Given the description of an element on the screen output the (x, y) to click on. 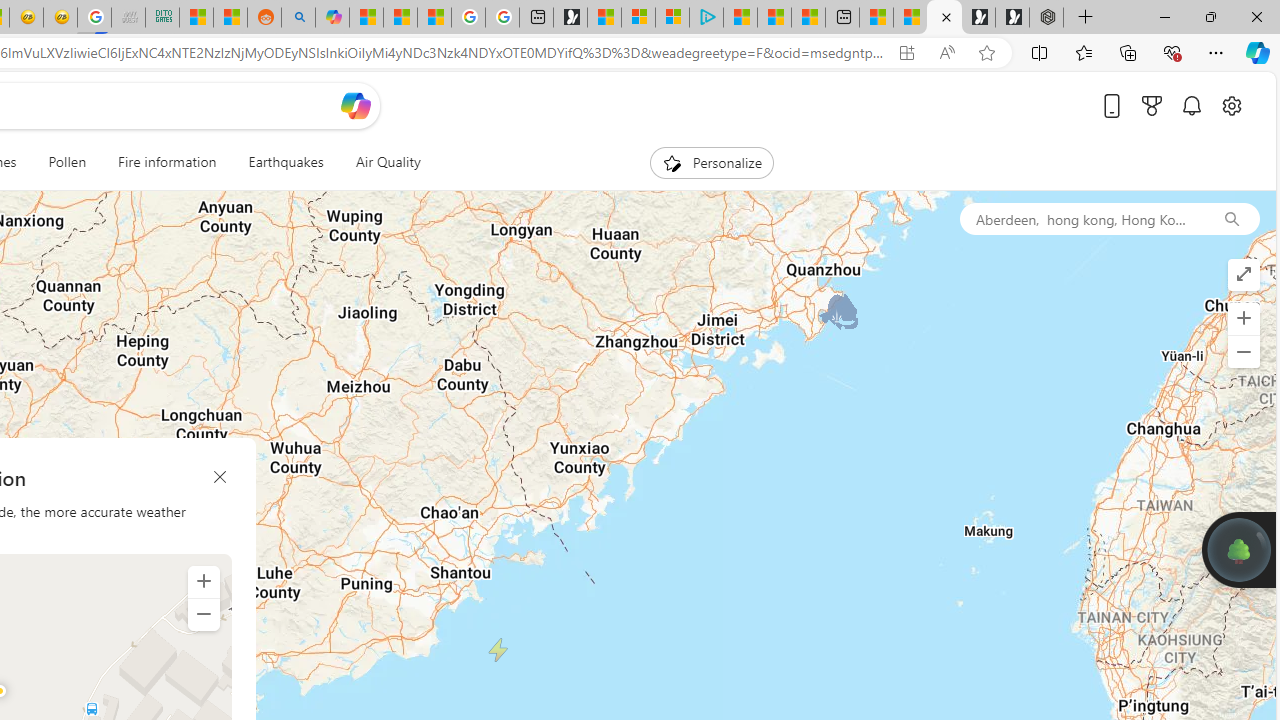
Air Quality (387, 162)
Earthquakes (285, 162)
Aberdeen, hong kong, Hong Kong SAR (1081, 218)
MSNBC - MSN (196, 17)
Microsoft account | Privacy (671, 17)
Navy Quest (127, 17)
These 3 Stocks Pay You More Than 5% to Own Them (808, 17)
